Given the description of an element on the screen output the (x, y) to click on. 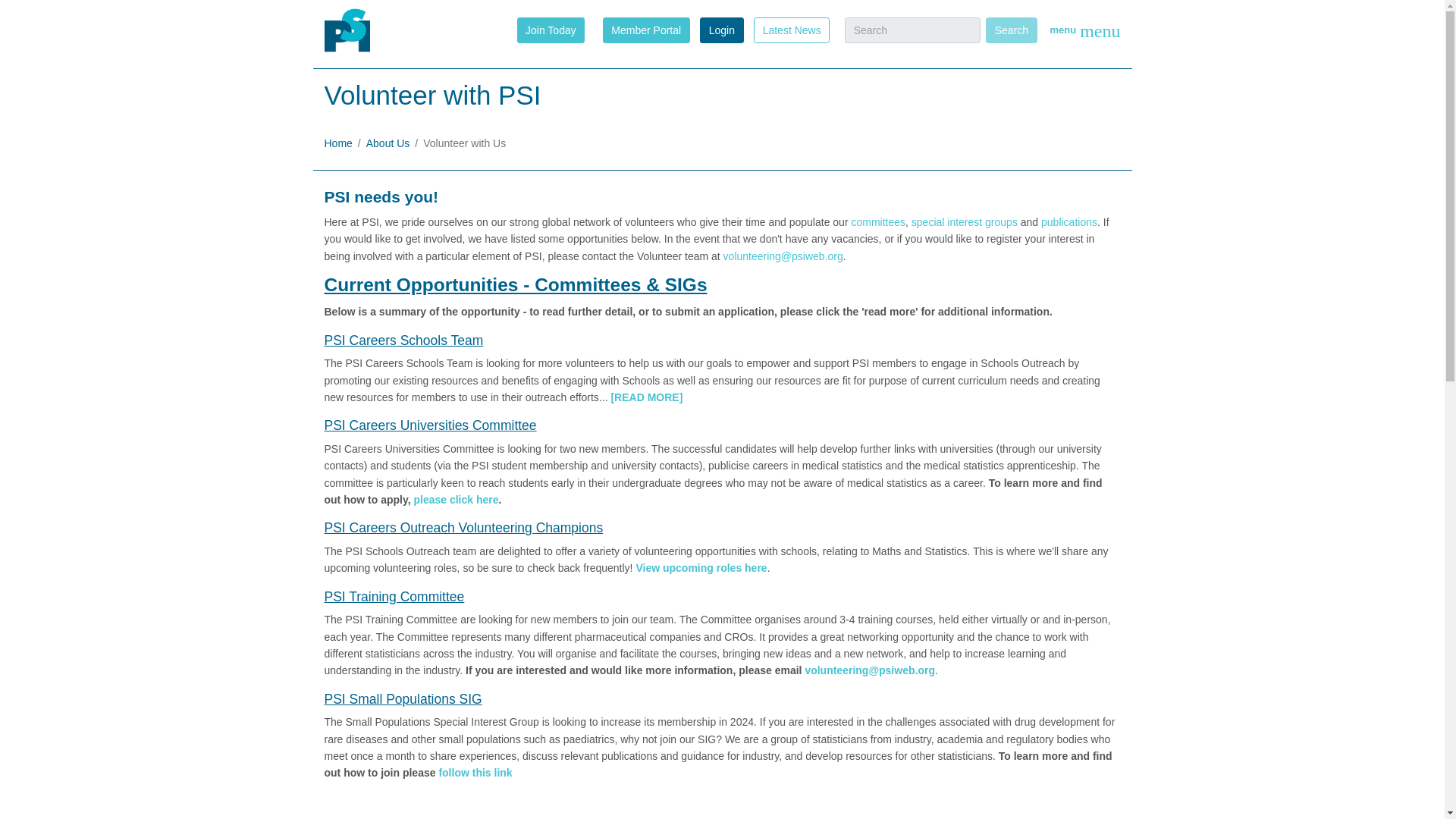
Login (721, 30)
Search input (911, 30)
Search (1010, 30)
Latest News (791, 29)
Member Portal (646, 29)
Join Today (550, 29)
